Given the description of an element on the screen output the (x, y) to click on. 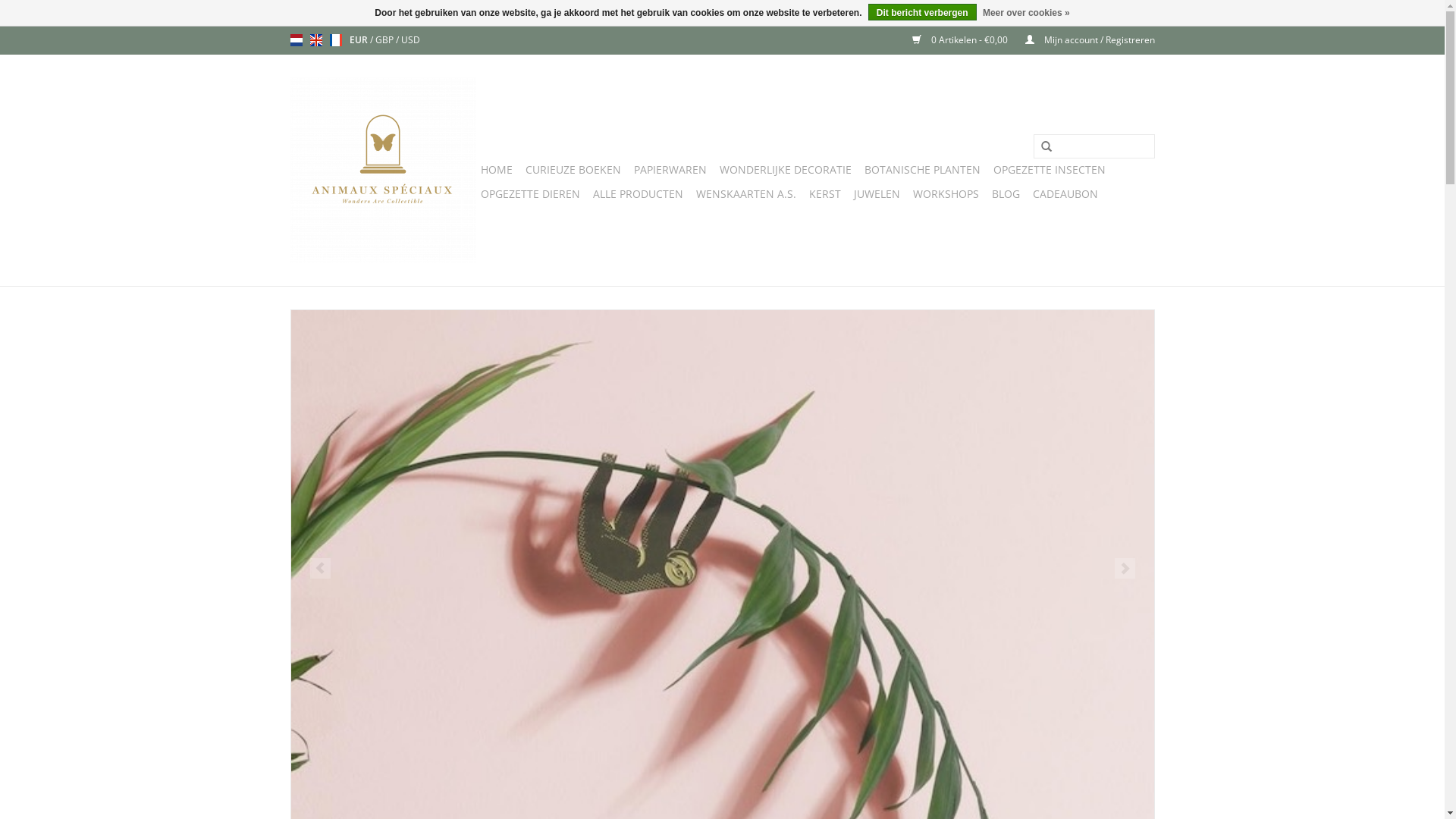
Dit bericht verbergen Element type: text (922, 11)
WONDERLIJKE DECORATIE Element type: text (784, 169)
JUWELEN Element type: text (876, 194)
OPGEZETTE DIEREN Element type: text (530, 194)
BOTANISCHE PLANTEN Element type: text (922, 169)
USD Element type: text (409, 39)
fr Element type: text (335, 40)
OPGEZETTE INSECTEN Element type: text (1049, 169)
Mijn account / Registreren Element type: text (1082, 39)
WORKSHOPS Element type: text (945, 194)
Vorige Element type: hover (319, 568)
CADEAUBON Element type: text (1065, 194)
WENSKAARTEN A.S. Element type: text (745, 194)
nl Element type: text (295, 40)
HOME Element type: text (496, 169)
PAPIERWAREN Element type: text (670, 169)
Animaux Speciaux Element type: hover (382, 170)
en Element type: text (315, 40)
Volgende Element type: hover (1124, 568)
BLOG Element type: text (1005, 194)
Kartonnen dieren Element type: hover (722, 511)
Zoeken Element type: hover (1045, 147)
EUR Element type: text (358, 39)
CURIEUZE BOEKEN Element type: text (572, 169)
GBP Element type: text (384, 39)
KERST Element type: text (823, 194)
ALLE PRODUCTEN Element type: text (637, 194)
